Given the description of an element on the screen output the (x, y) to click on. 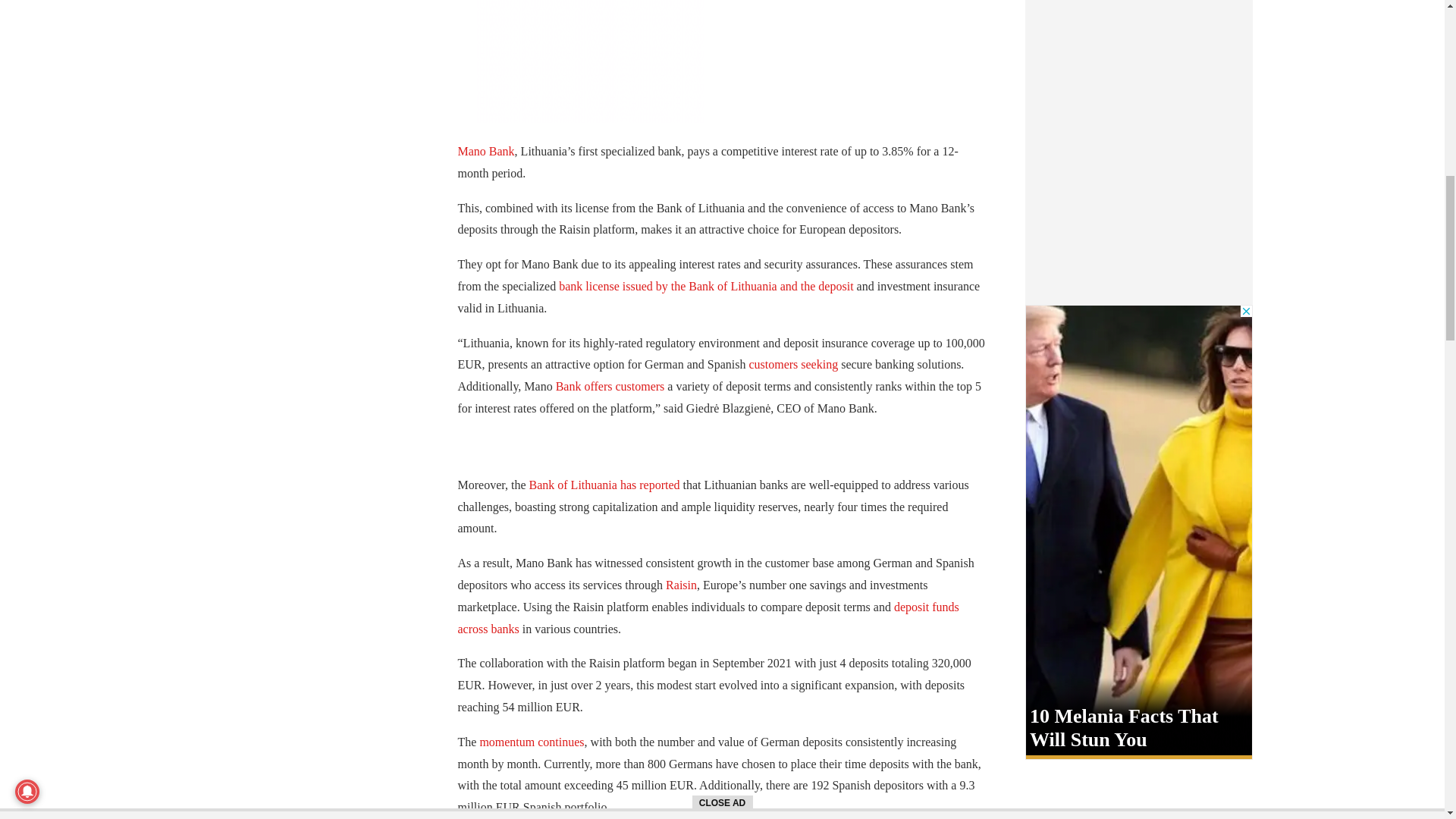
3rd party ad content (589, 61)
